Given the description of an element on the screen output the (x, y) to click on. 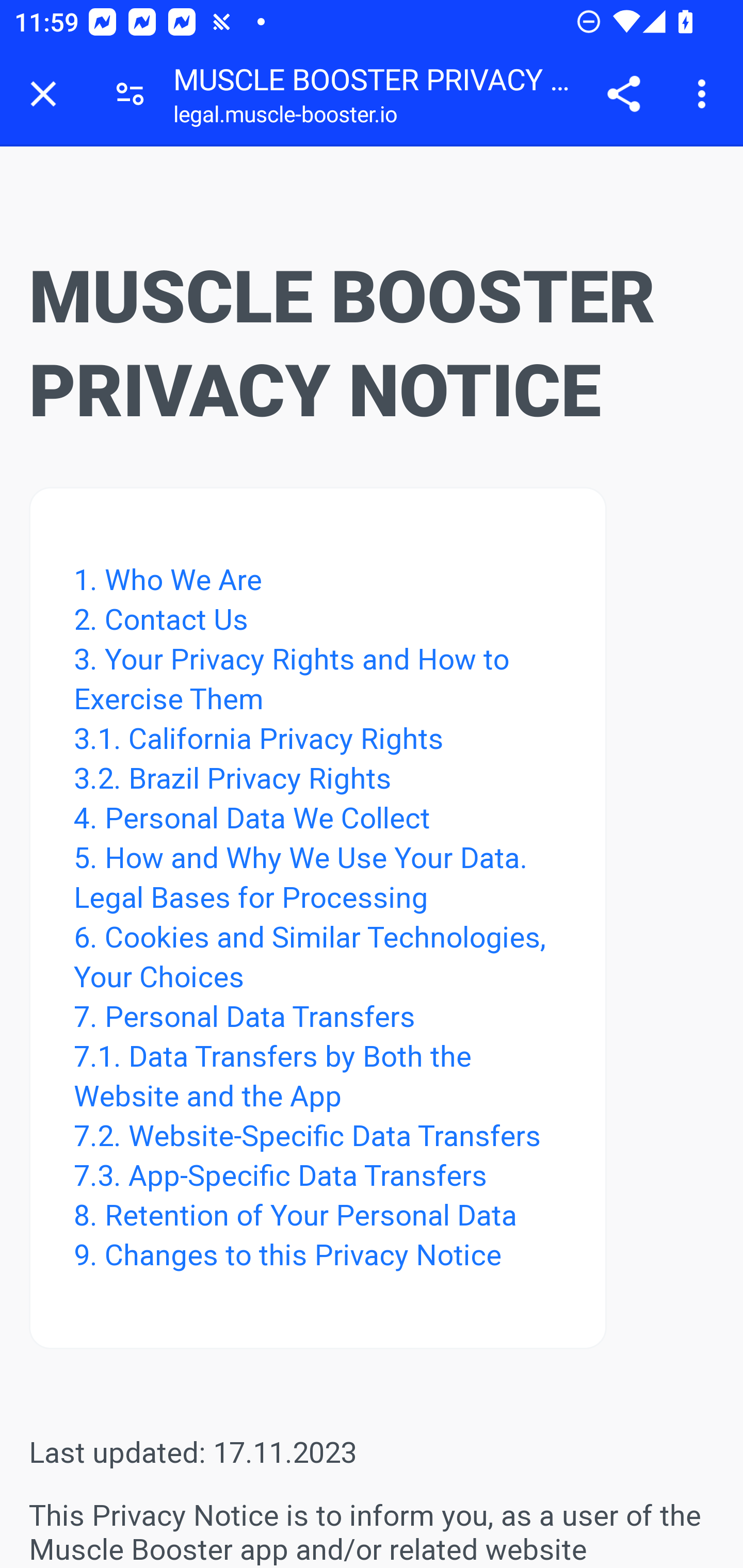
Close tab (43, 93)
Share (623, 93)
Customize and control Google Chrome (705, 93)
Connection is secure (129, 93)
legal.muscle-booster.io (285, 117)
1. Who We Are  (171, 579)
2. Contact Us (160, 618)
3. Your Privacy Rights and How to Exercise Them (291, 678)
3.1. California Privacy Rights  (261, 737)
3.2. Brazil Privacy Rights (231, 778)
4. Personal Data We Collect (251, 817)
6. Cookies and Similar Technologies, Your Choices (309, 956)
7. Personal Data Transfers (244, 1016)
7.2. Website-Specific Data Transfers (306, 1135)
7.3. App-Specific Data Transfers (279, 1175)
8. Retention of Your Personal Data (294, 1214)
9. Changes to this Privacy Notice (287, 1254)
